Given the description of an element on the screen output the (x, y) to click on. 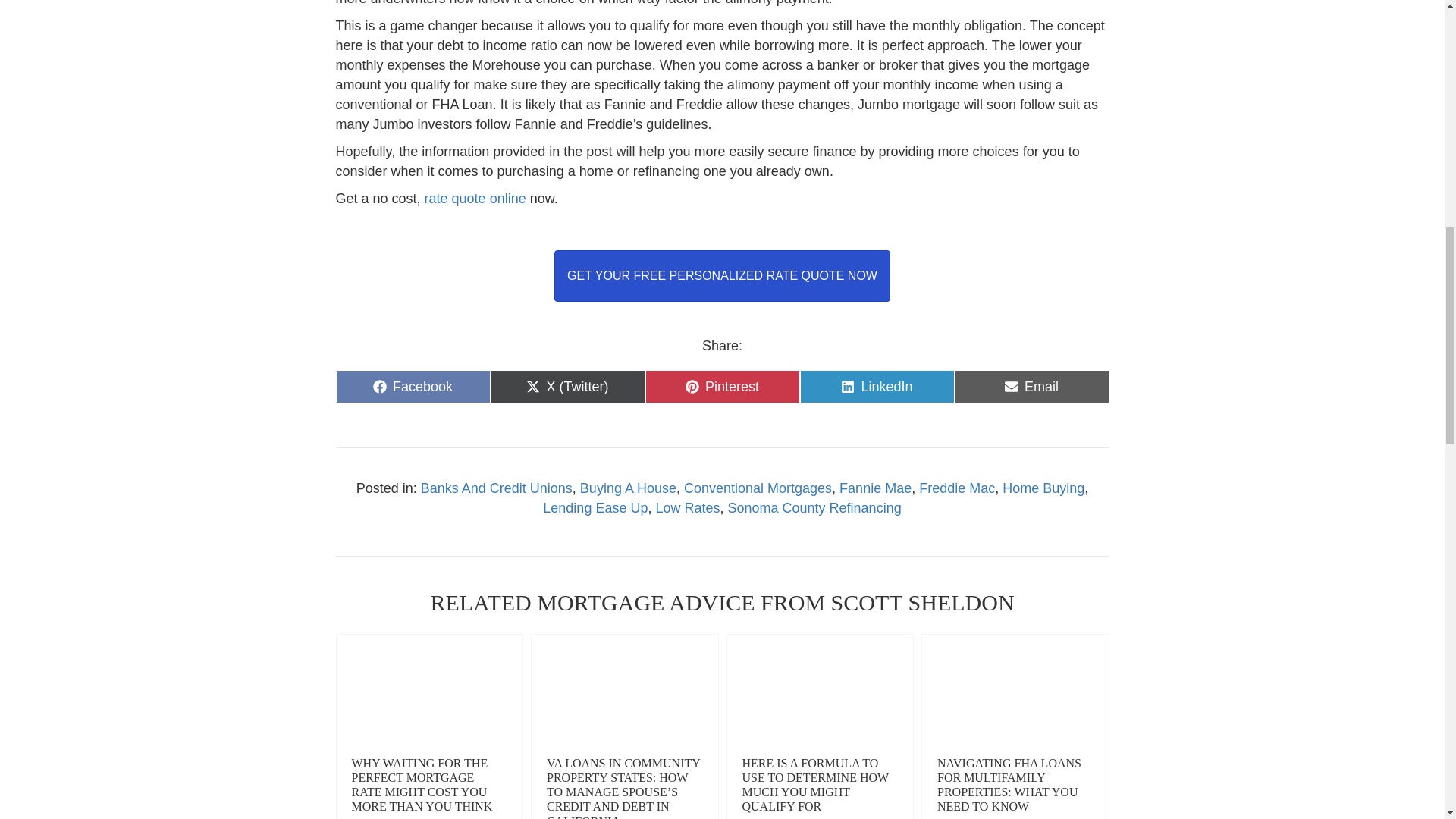
Banks And Credit Unions (496, 488)
GET YOUR FREE PERSONALIZED RATE QUOTE NOW (721, 276)
Freddie Mac (956, 488)
Home Buying (1043, 488)
Lending Ease Up (595, 507)
Sonoma County Refinancing (814, 507)
Low Rates (687, 507)
rate quote online (475, 198)
